Given the description of an element on the screen output the (x, y) to click on. 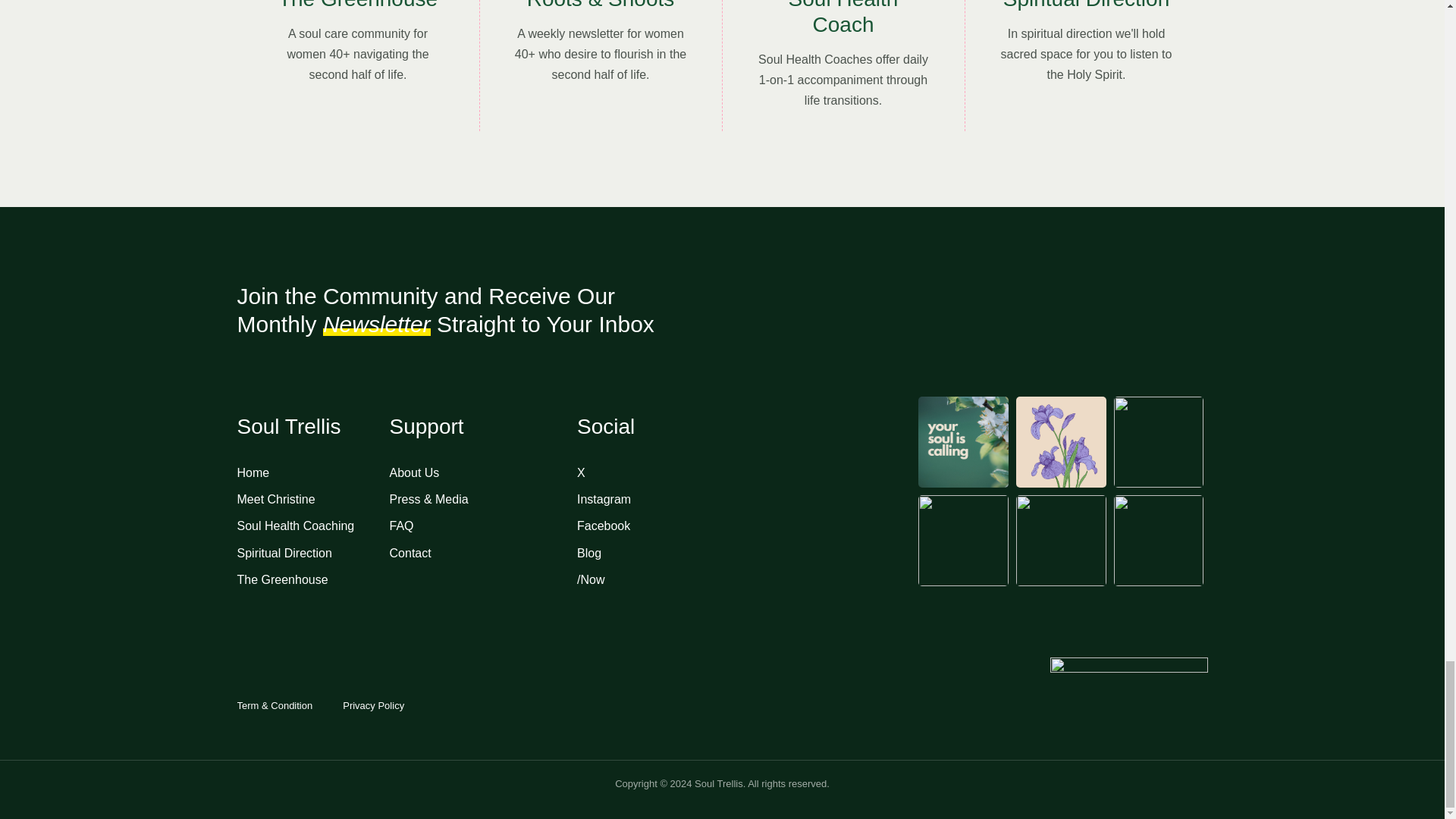
About Us (483, 472)
X (700, 472)
Spiritual Direction (311, 552)
Home (311, 472)
Facebook (700, 525)
Soul Health Coaching (311, 525)
The Greenhouse (311, 579)
Contact (483, 552)
Meet Christine (311, 498)
Blog (700, 552)
Instagram (700, 498)
